Given the description of an element on the screen output the (x, y) to click on. 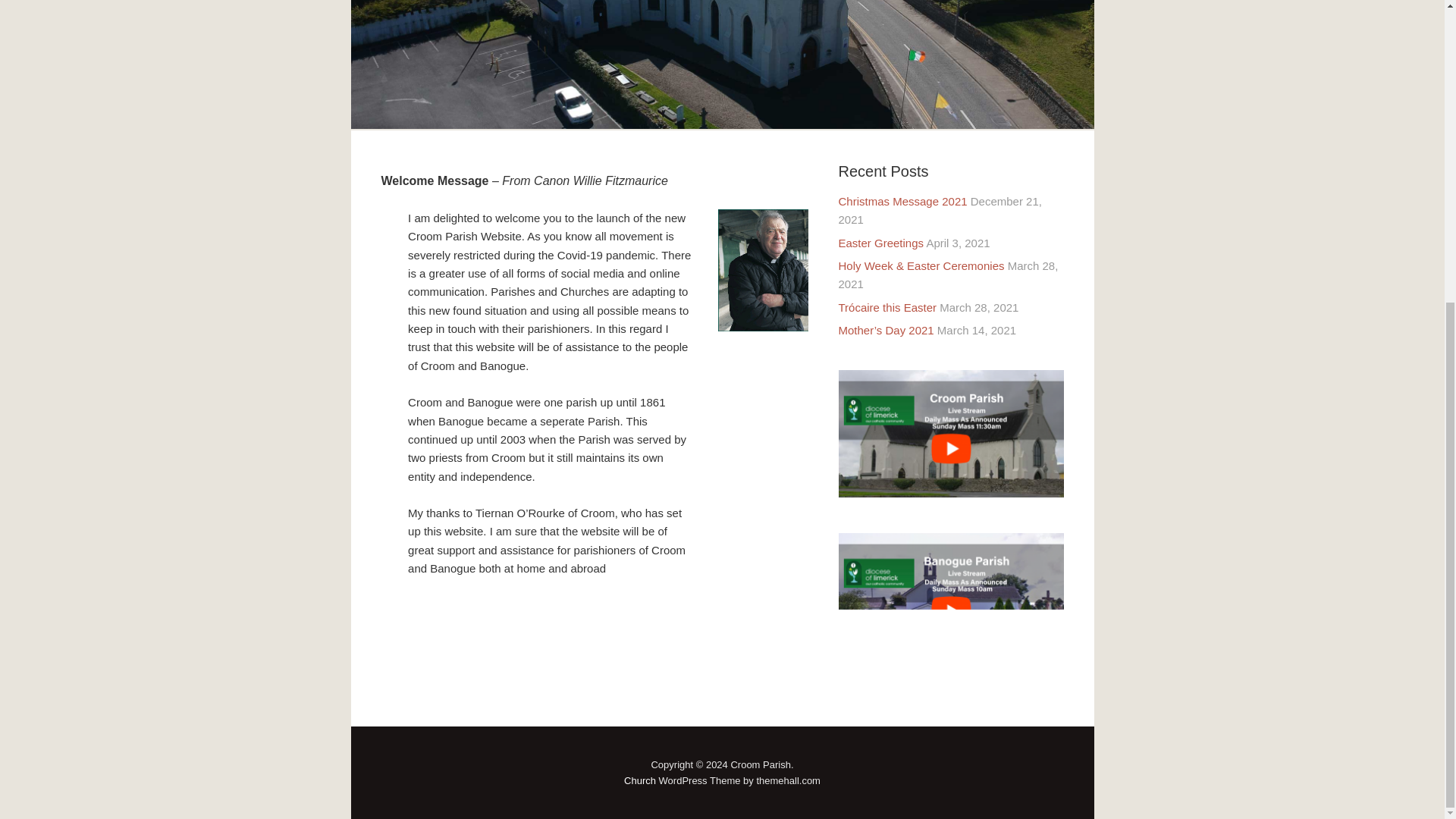
Easter Greetings (881, 242)
Church WordPress Theme (640, 780)
Christmas Message 2021 (903, 201)
Church (640, 780)
